Given the description of an element on the screen output the (x, y) to click on. 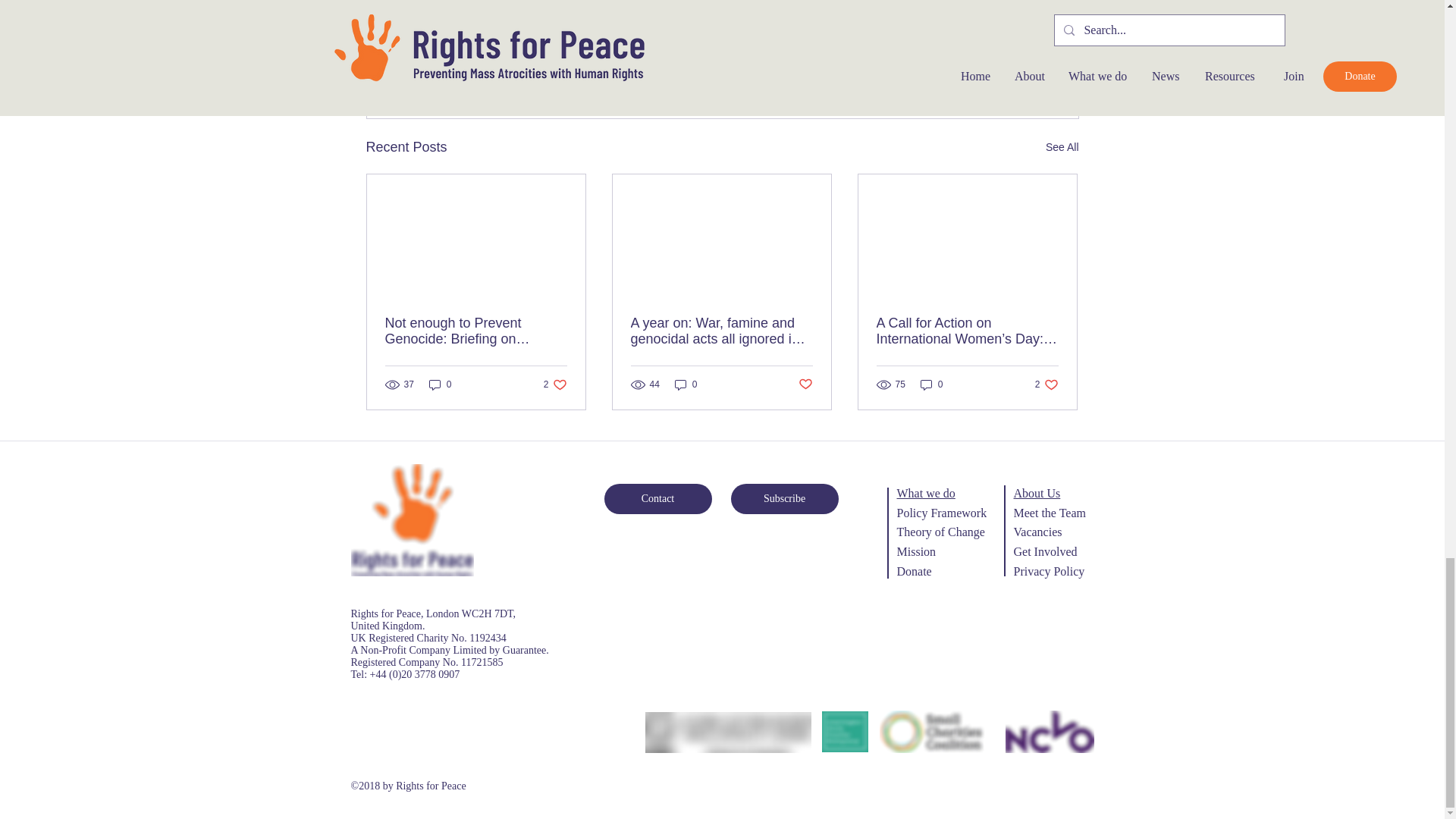
See All (1061, 147)
0 (555, 384)
Screenshot 2022-04-12 at 12.14.02.png (990, 64)
0 (440, 384)
